Given the description of an element on the screen output the (x, y) to click on. 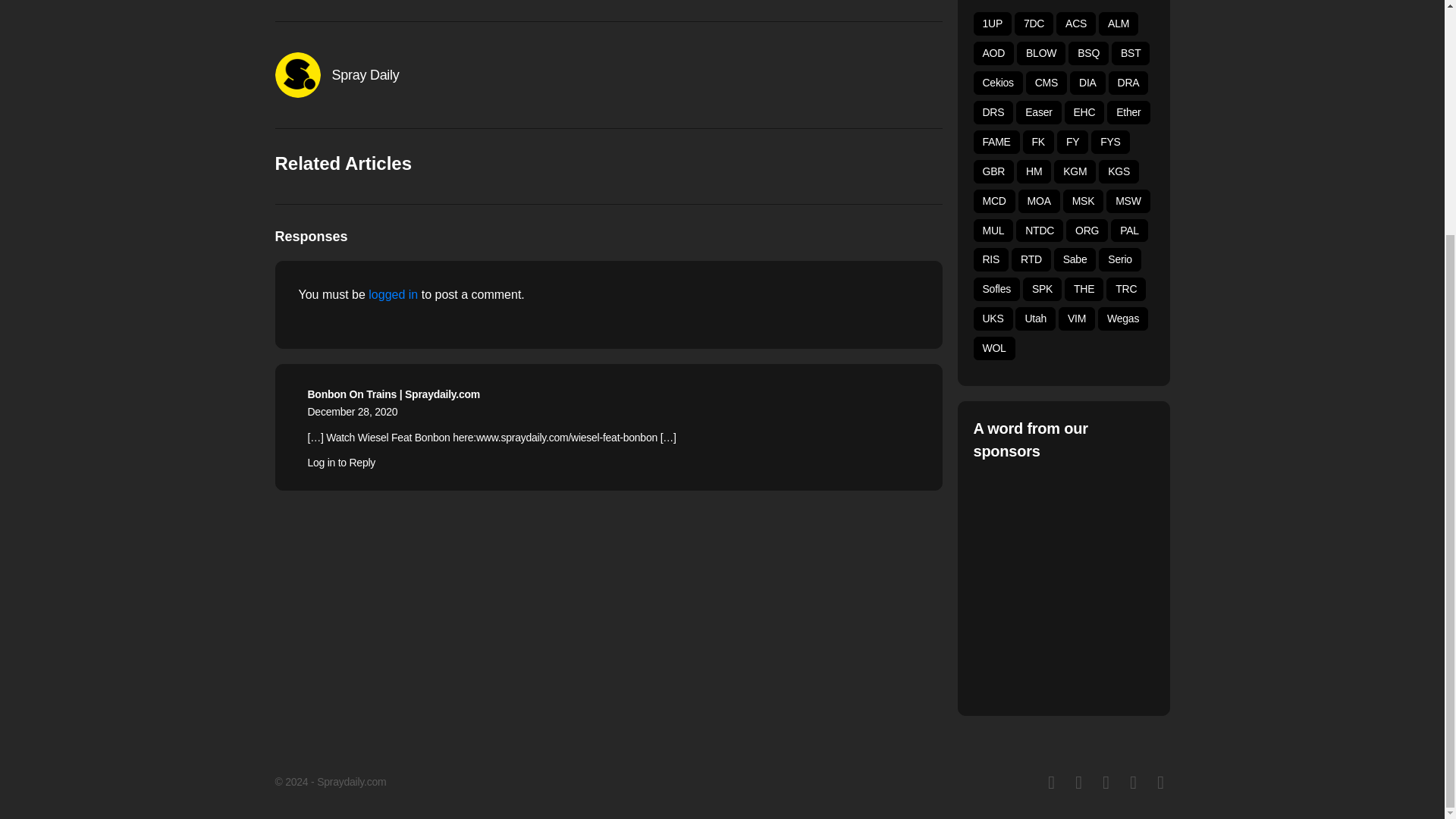
Spray Daily (364, 74)
